Given the description of an element on the screen output the (x, y) to click on. 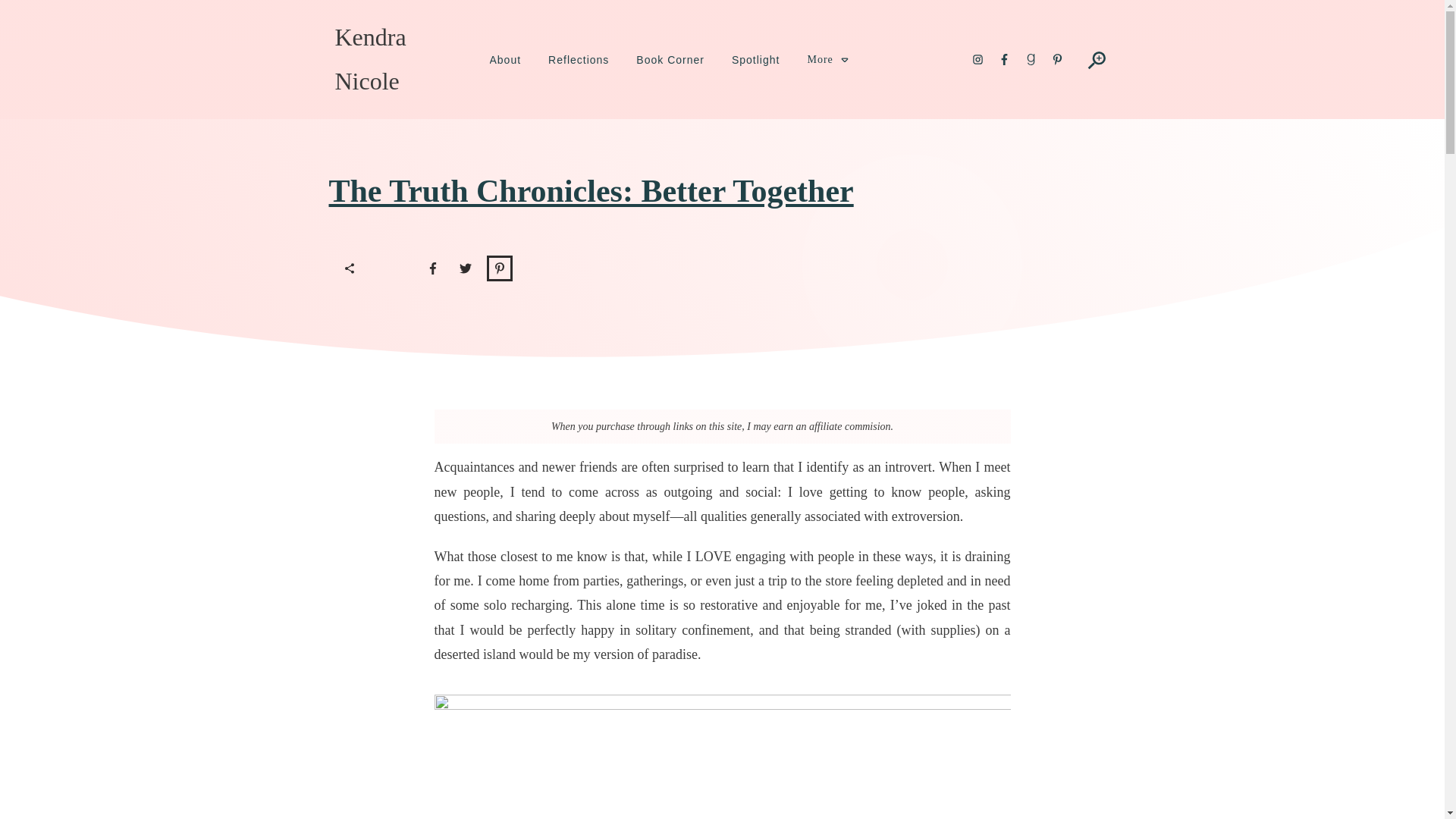
About (505, 59)
Reflections (578, 59)
The Truth Chronicles: Better Together (591, 190)
Kendra Nicole (370, 59)
Book Corner (670, 59)
The Truth Chronicles: Better Together (591, 190)
Spotlight (755, 59)
More (827, 59)
